Given the description of an element on the screen output the (x, y) to click on. 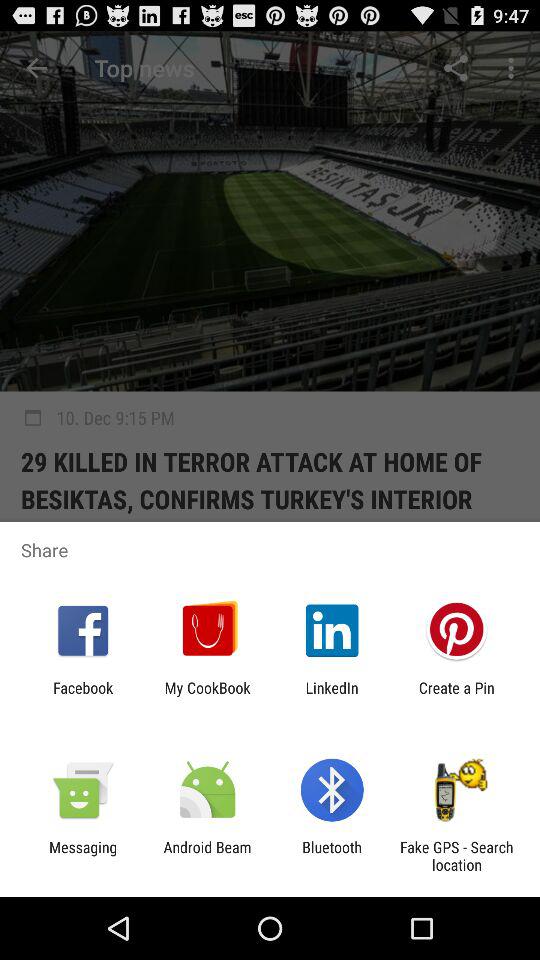
launch app next to messaging item (207, 856)
